Given the description of an element on the screen output the (x, y) to click on. 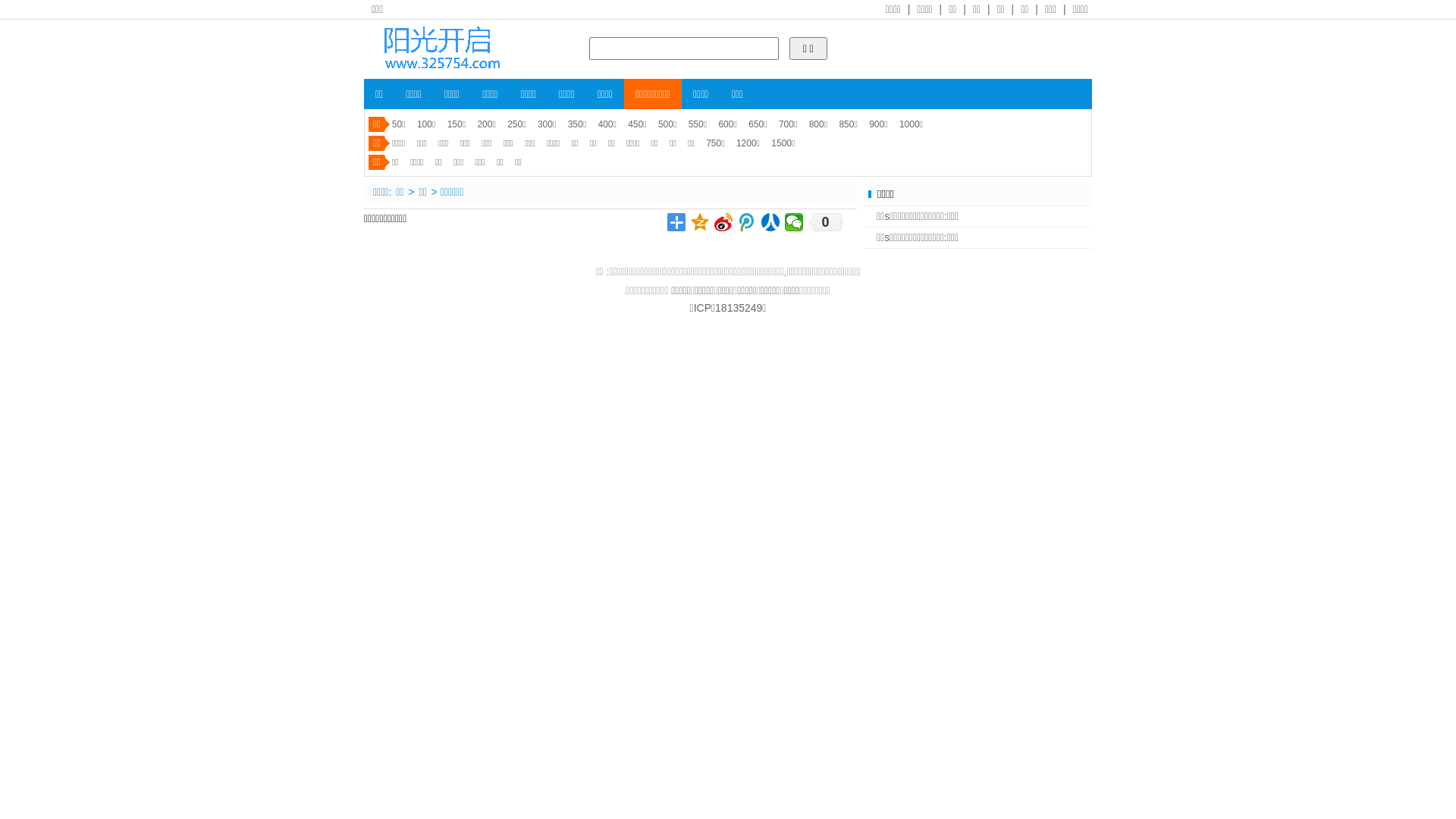
0 Element type: text (825, 222)
